Given the description of an element on the screen output the (x, y) to click on. 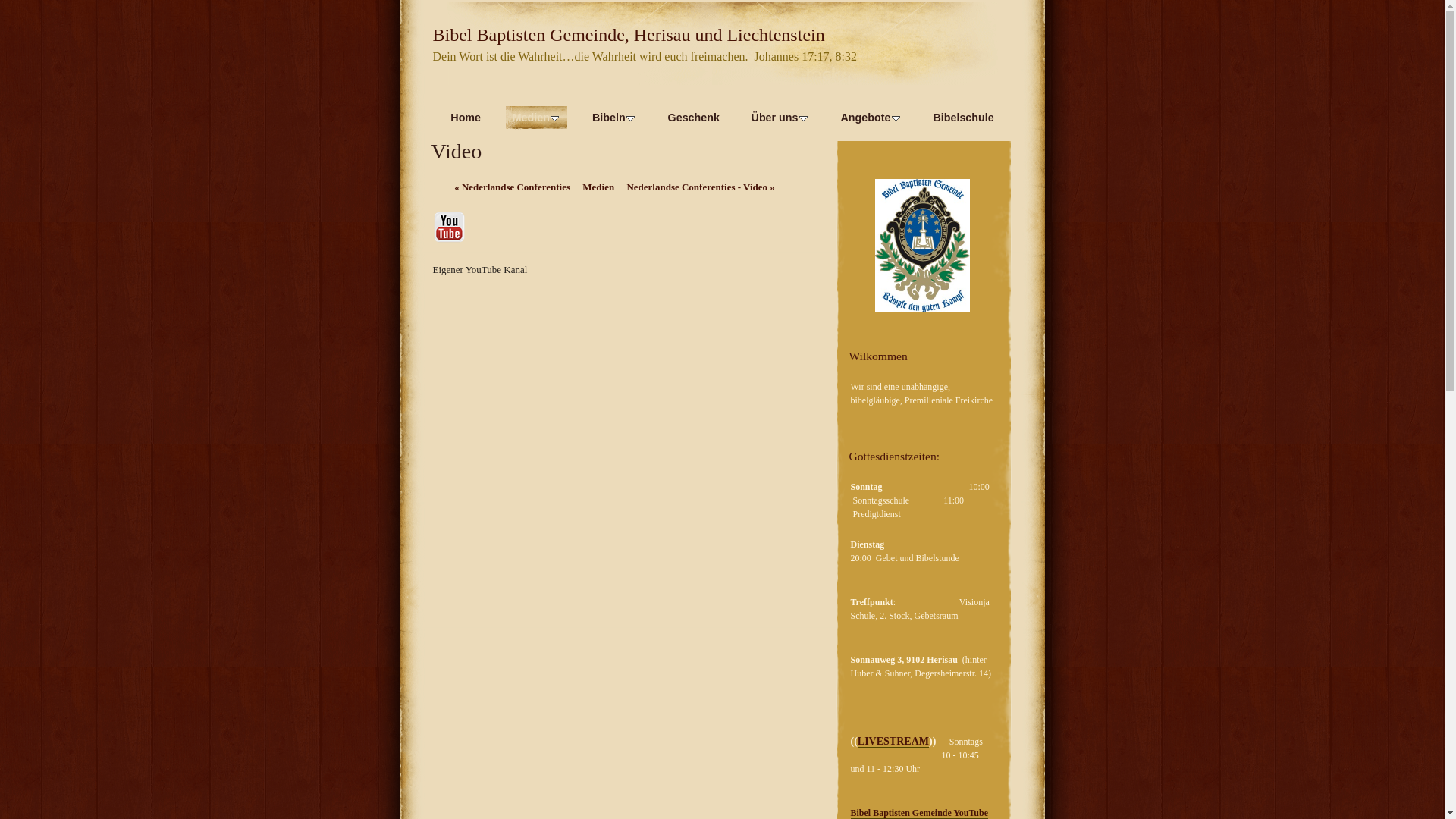
YouTube video player Element type: hover (614, 660)
Medien Element type: text (598, 187)
Medien Element type: text (536, 117)
Geschenk Element type: text (693, 117)
Bibelschule Element type: text (962, 117)
YouTube video player Element type: hover (614, 417)
Bibeln Element type: text (614, 117)
Angebote Element type: text (871, 117)
Home Element type: text (465, 117)
LIVESTREAM Element type: text (892, 741)
Bibel Baptisten Gemeinde, Herisau und Liechtenstein Element type: text (628, 34)
